Given the description of an element on the screen output the (x, y) to click on. 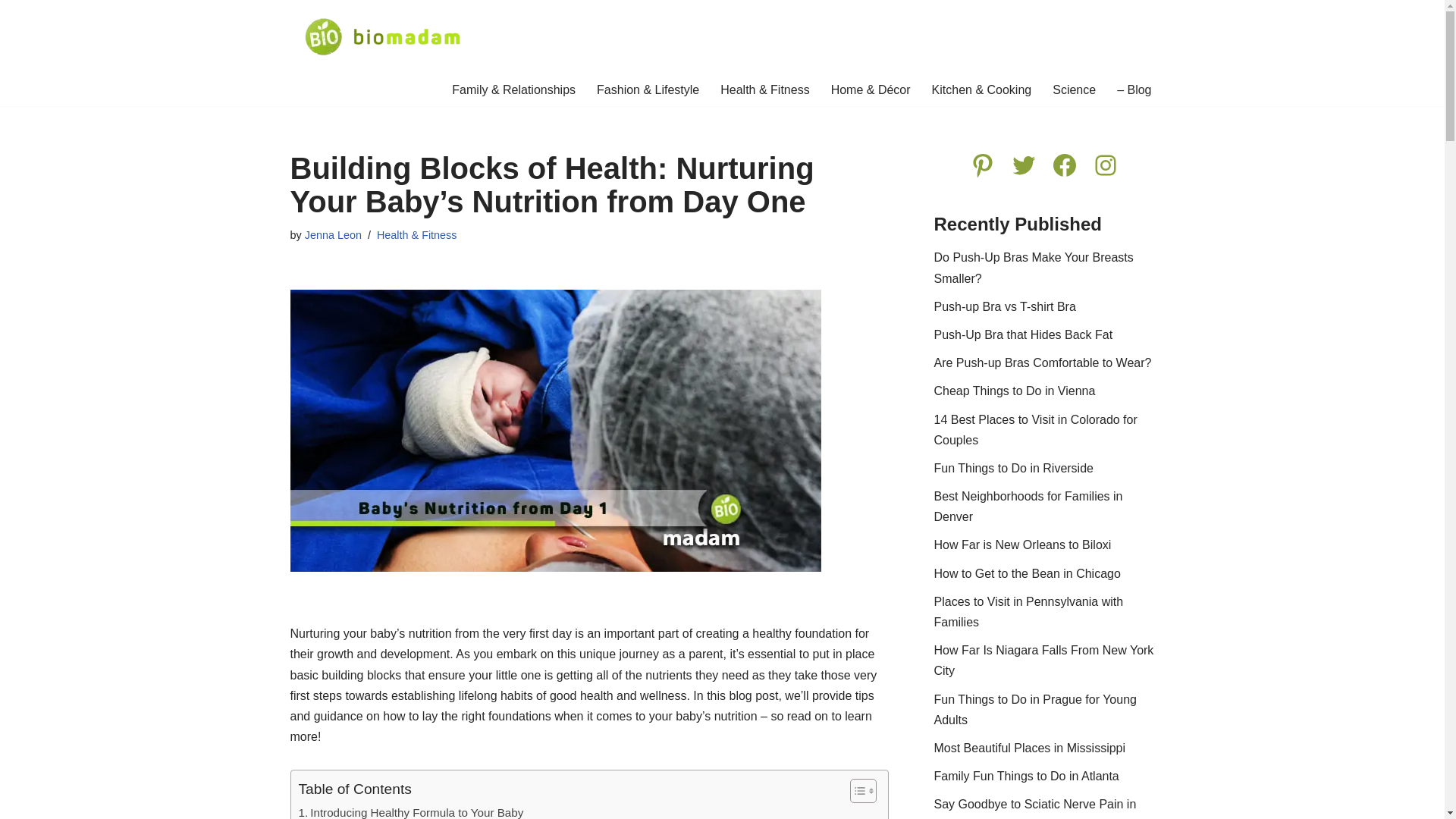
Skip to content (11, 31)
Posts by Jenna Leon (332, 234)
Introducing Healthy Formula to Your Baby (411, 811)
Introducing Healthy Formula to Your Baby (411, 811)
Jenna Leon (332, 234)
Science (1074, 89)
